Given the description of an element on the screen output the (x, y) to click on. 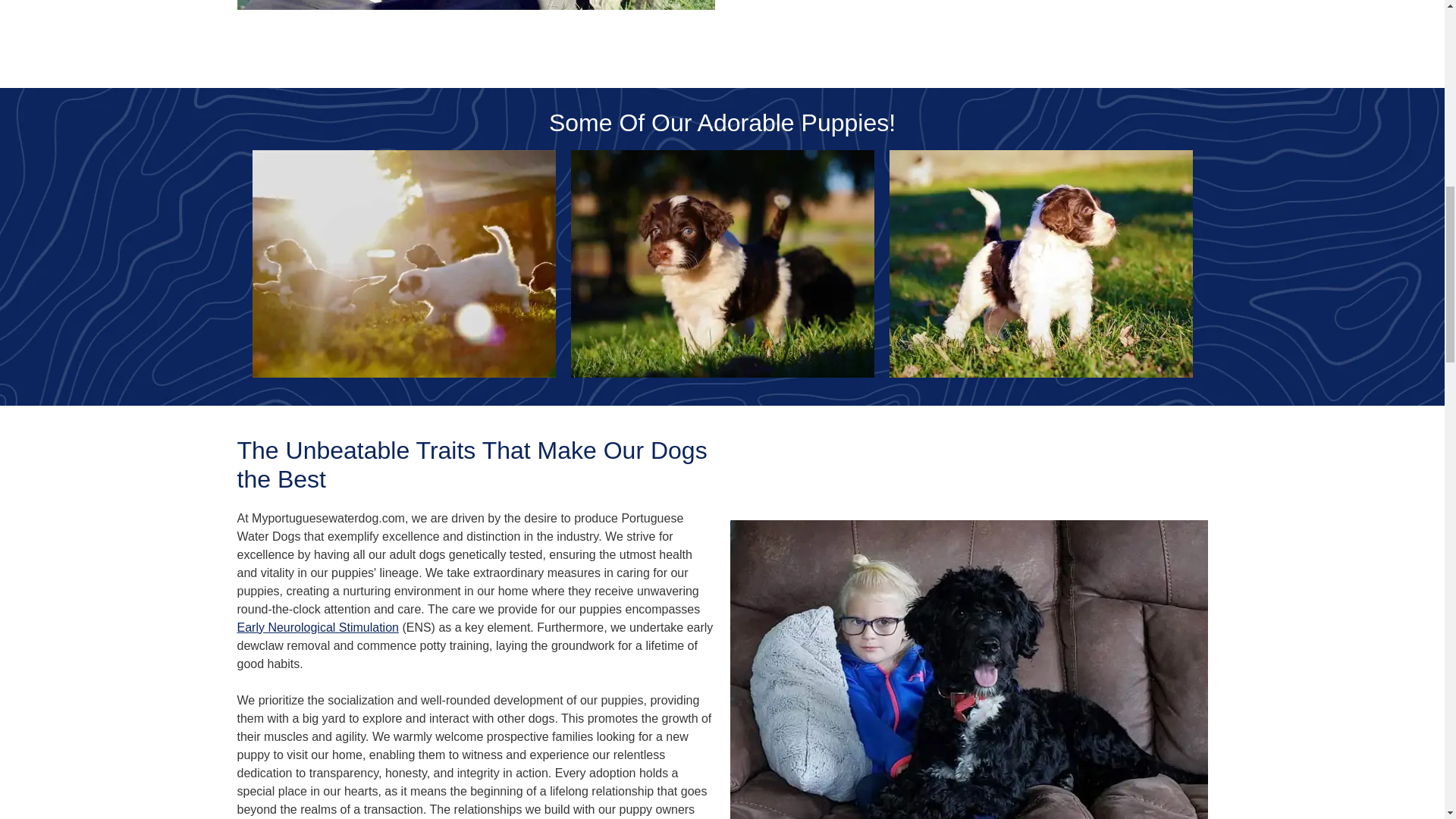
Early Neurological Stimulation (316, 626)
